Given the description of an element on the screen output the (x, y) to click on. 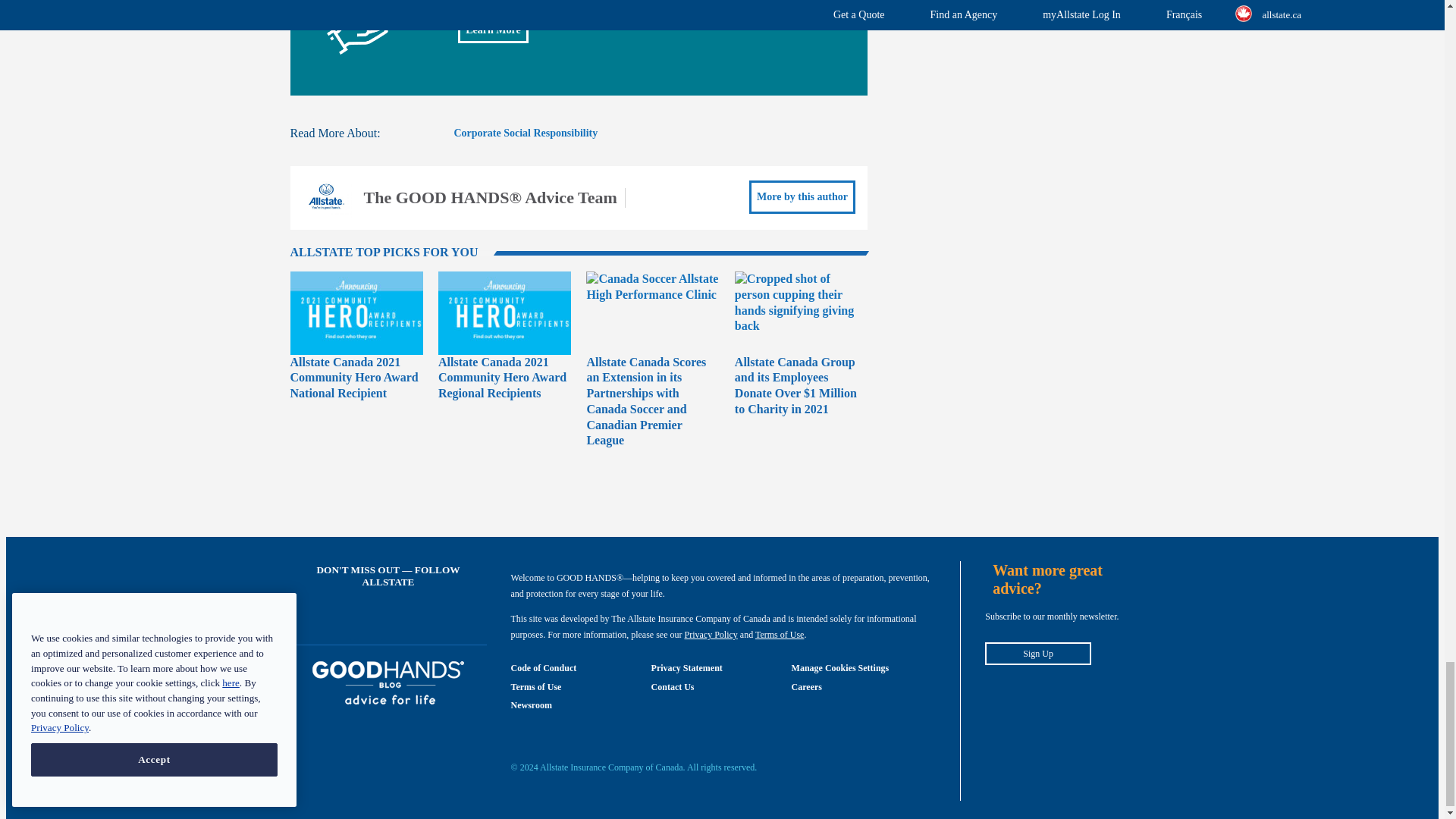
Allstate Canada 2021 Community Hero Award National Recipient (353, 376)
More by this author (802, 197)
Corporate Social Responsibility (524, 132)
Learn More (492, 29)
Learn More  (492, 29)
More by this author (802, 197)
